Given the description of an element on the screen output the (x, y) to click on. 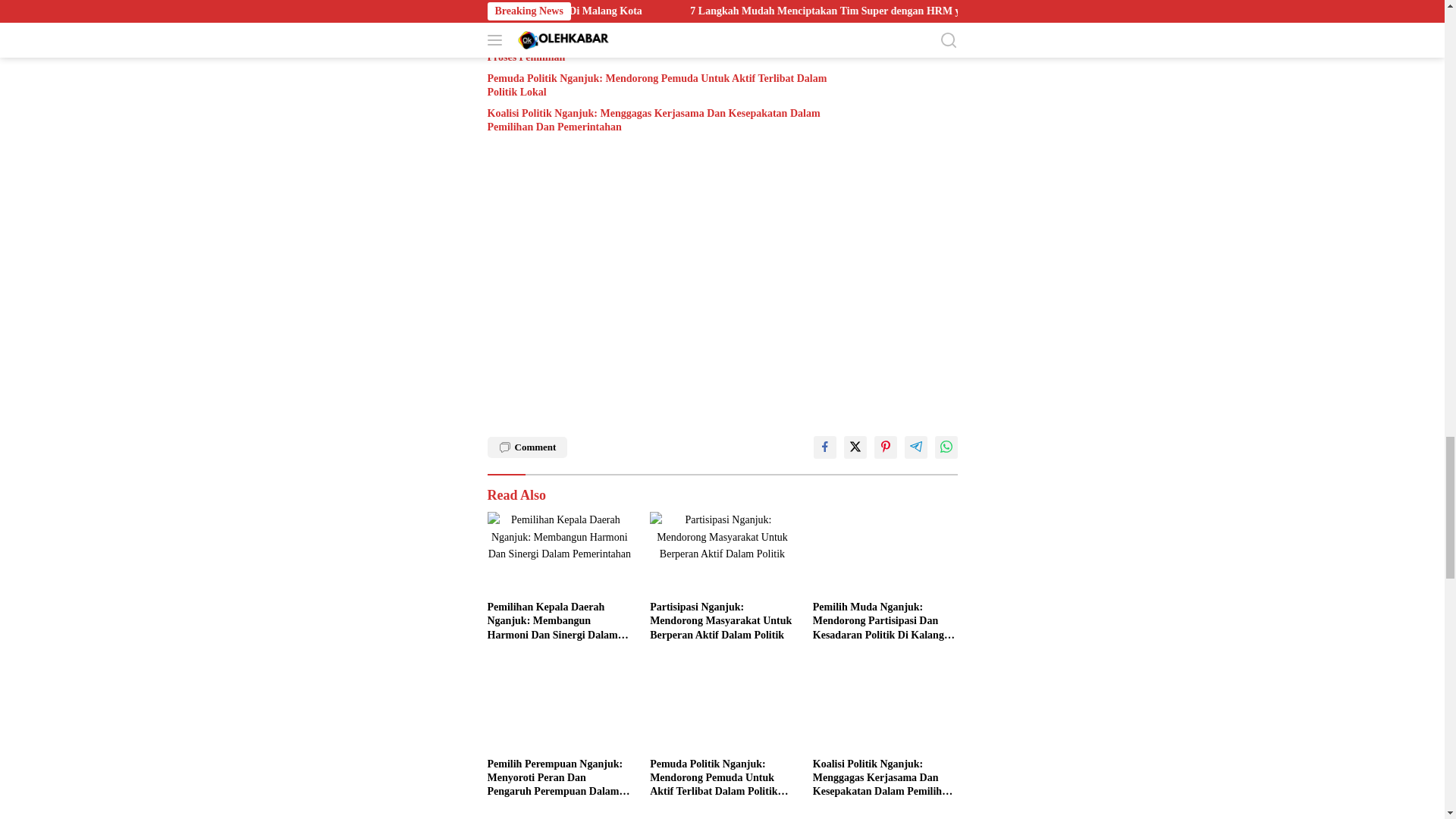
Comment (526, 447)
